Given the description of an element on the screen output the (x, y) to click on. 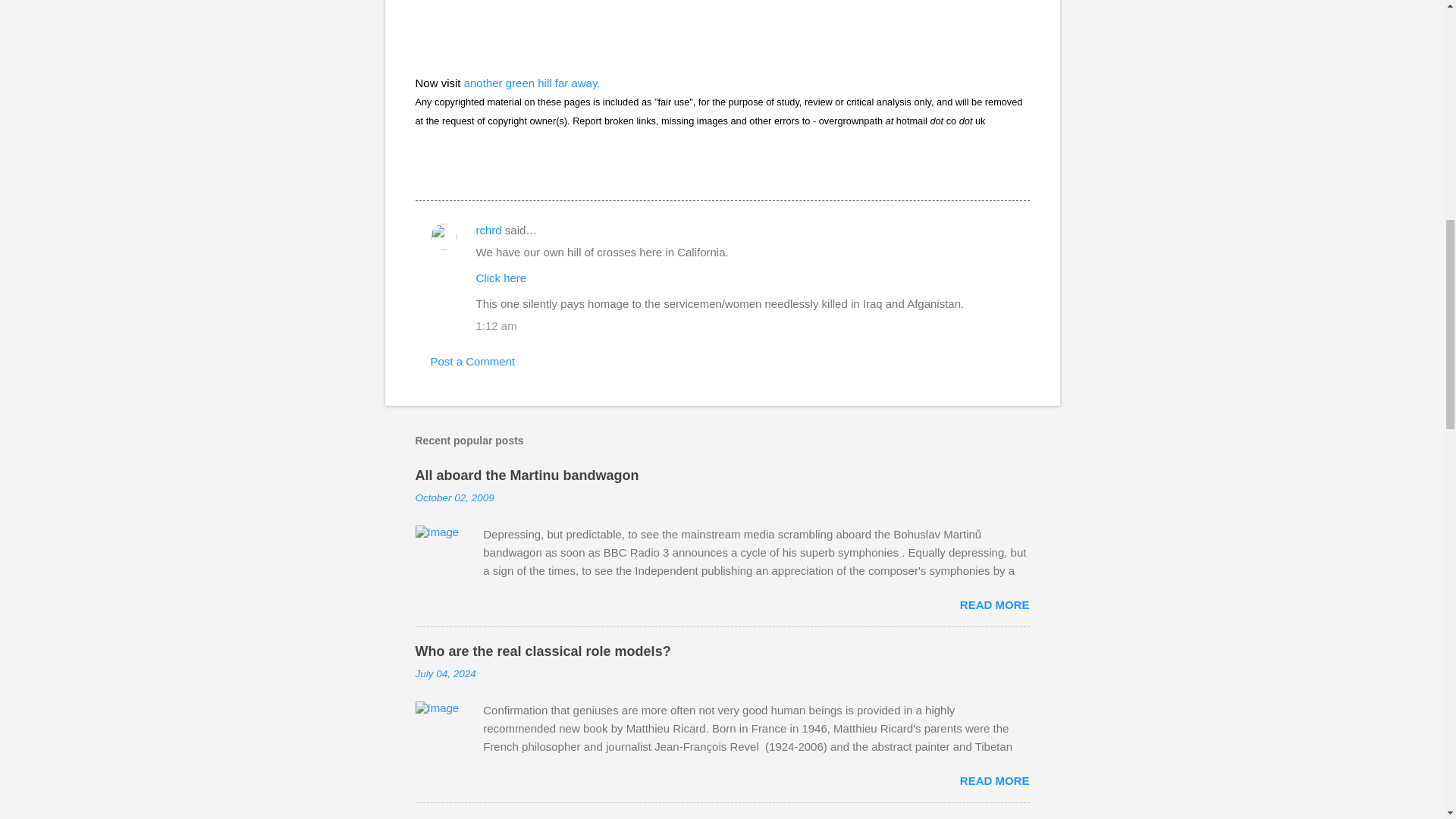
READ MORE (994, 604)
All aboard the Martinu bandwagon (526, 475)
1:12 am (496, 325)
rchrd (489, 229)
READ MORE (994, 780)
July 04, 2024 (445, 673)
comment permalink (496, 325)
October 02, 2009 (454, 497)
Post a Comment (472, 360)
Who are the real classical role models? (542, 651)
Click here (501, 277)
Email Post (423, 173)
another green hill far away. (531, 82)
